Given the description of an element on the screen output the (x, y) to click on. 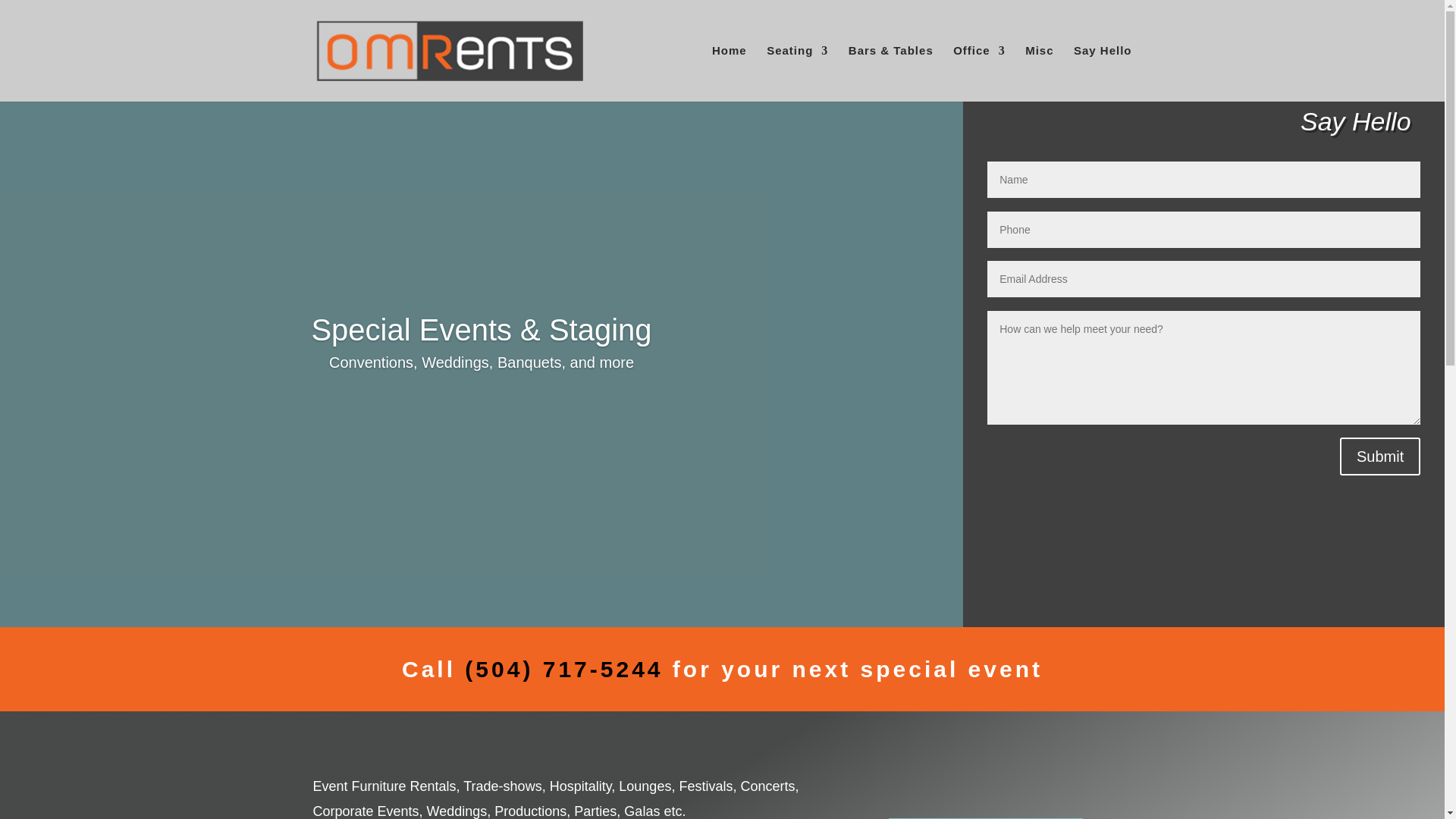
Submit (1380, 456)
Office (979, 69)
Say Hello (1103, 69)
Seating (797, 69)
